Given the description of an element on the screen output the (x, y) to click on. 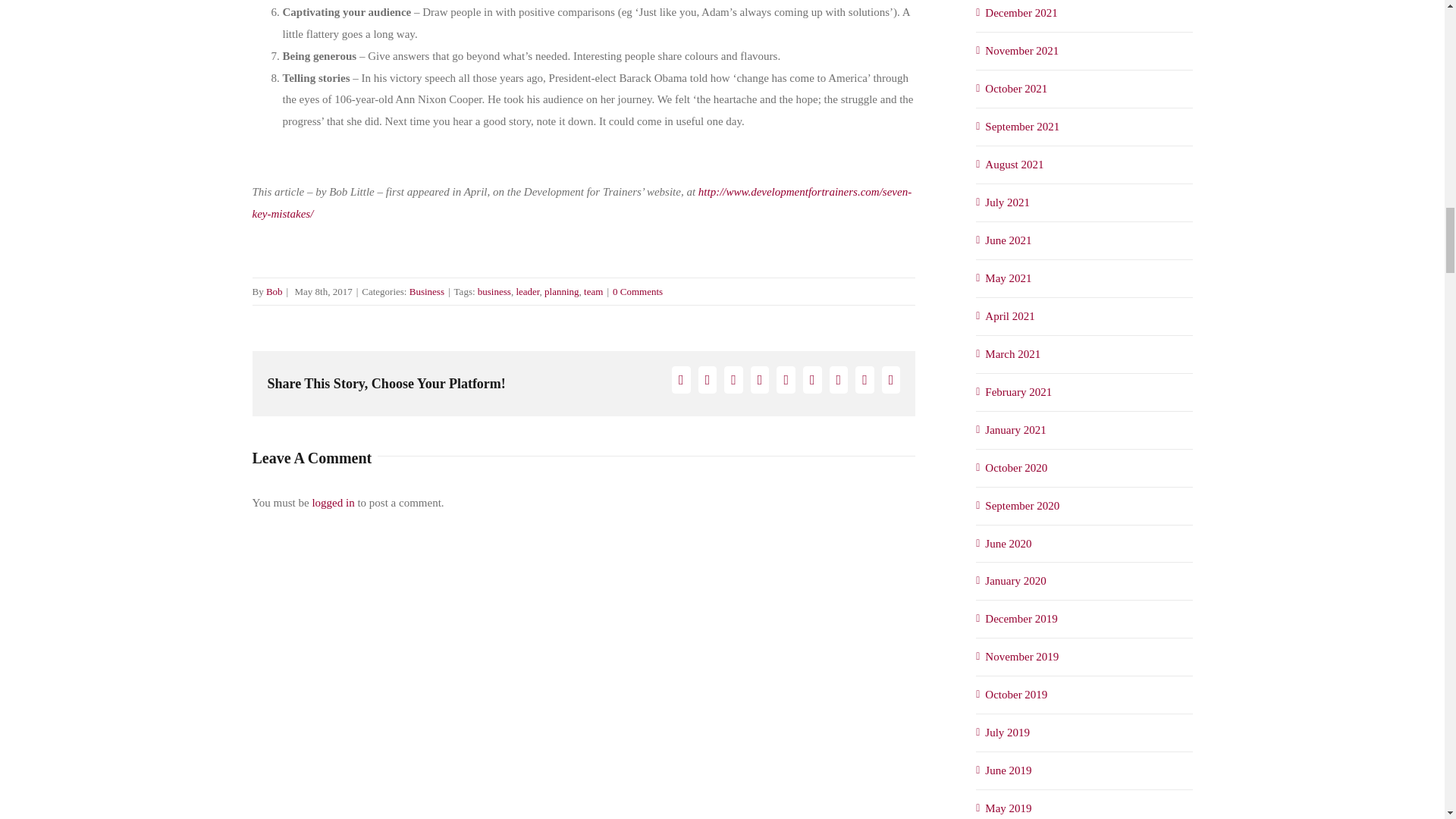
Posts by Bob (274, 291)
leader (526, 291)
business (494, 291)
team (592, 291)
planning (561, 291)
Bob (274, 291)
0 Comments (637, 291)
Business (426, 291)
